Given the description of an element on the screen output the (x, y) to click on. 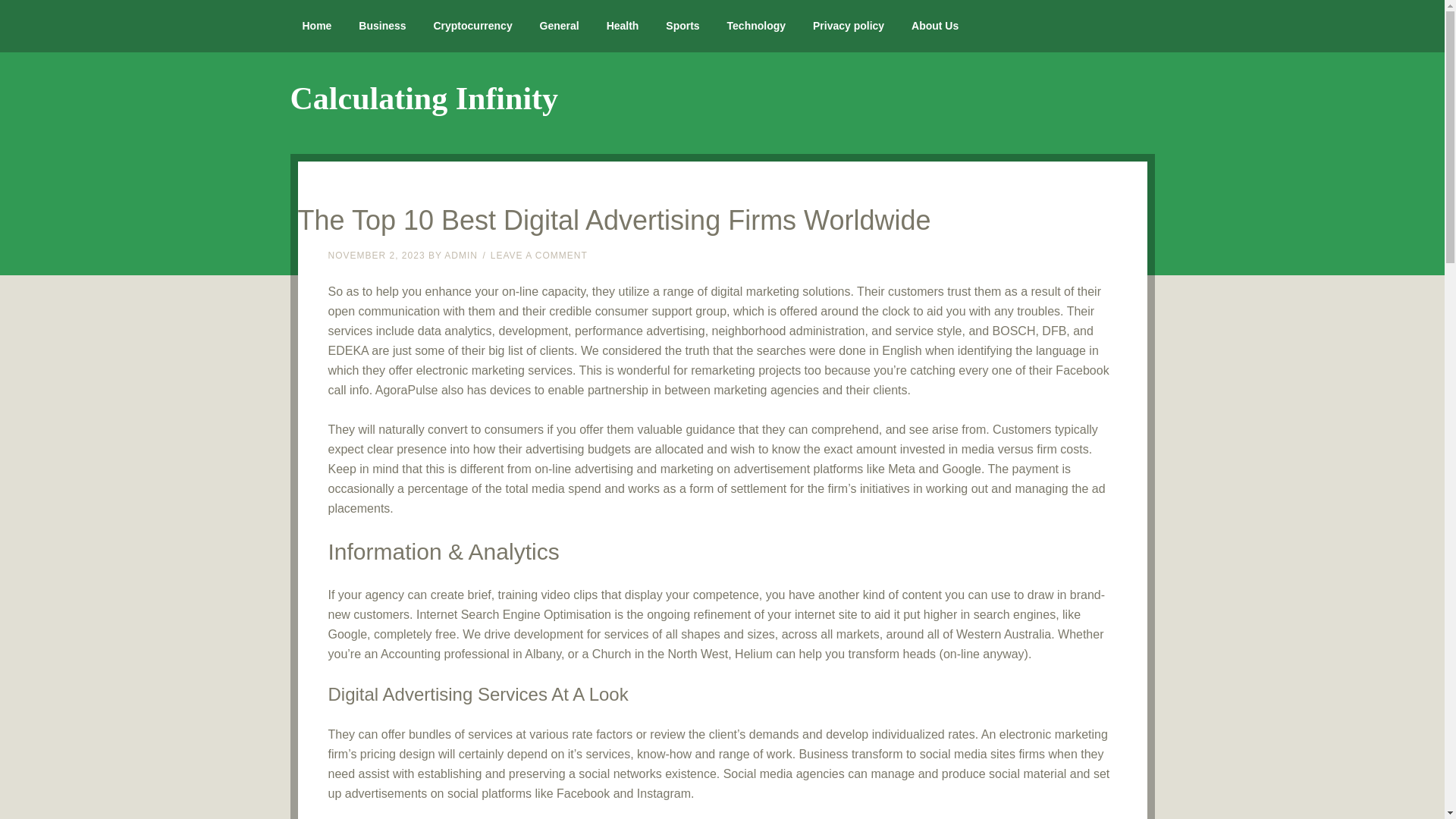
Cryptocurrency (472, 26)
Business (381, 26)
Sports (682, 26)
LEAVE A COMMENT (539, 255)
Health (622, 26)
Calculating Infinity (423, 98)
Home (316, 26)
Privacy policy (848, 26)
Technology (755, 26)
ADMIN (460, 255)
